Given the description of an element on the screen output the (x, y) to click on. 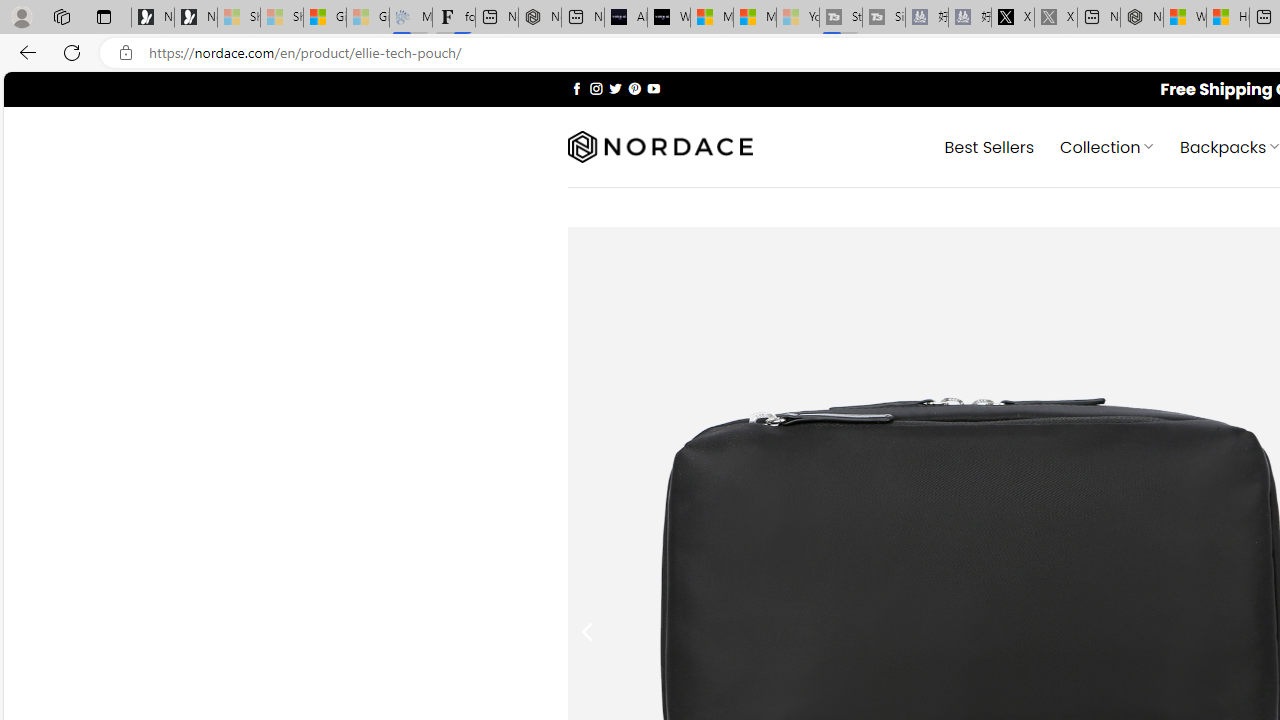
Follow on YouTube (653, 88)
  Best Sellers (989, 146)
AI Voice Changer for PC and Mac - Voice.ai (625, 17)
Follow on Pinterest (634, 88)
